Given the description of an element on the screen output the (x, y) to click on. 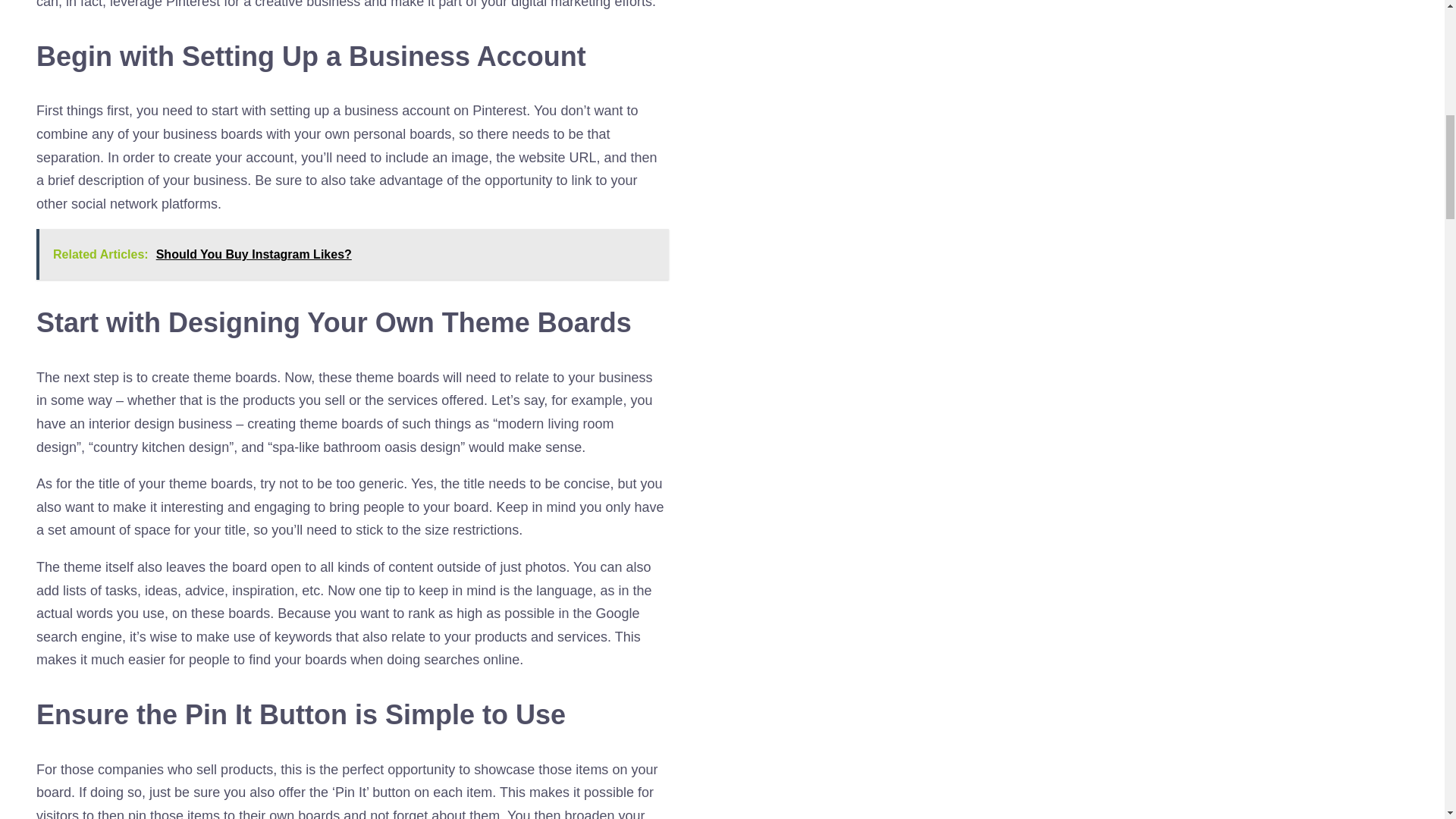
Related Articles:  Should You Buy Instagram Likes? (352, 254)
